Given the description of an element on the screen output the (x, y) to click on. 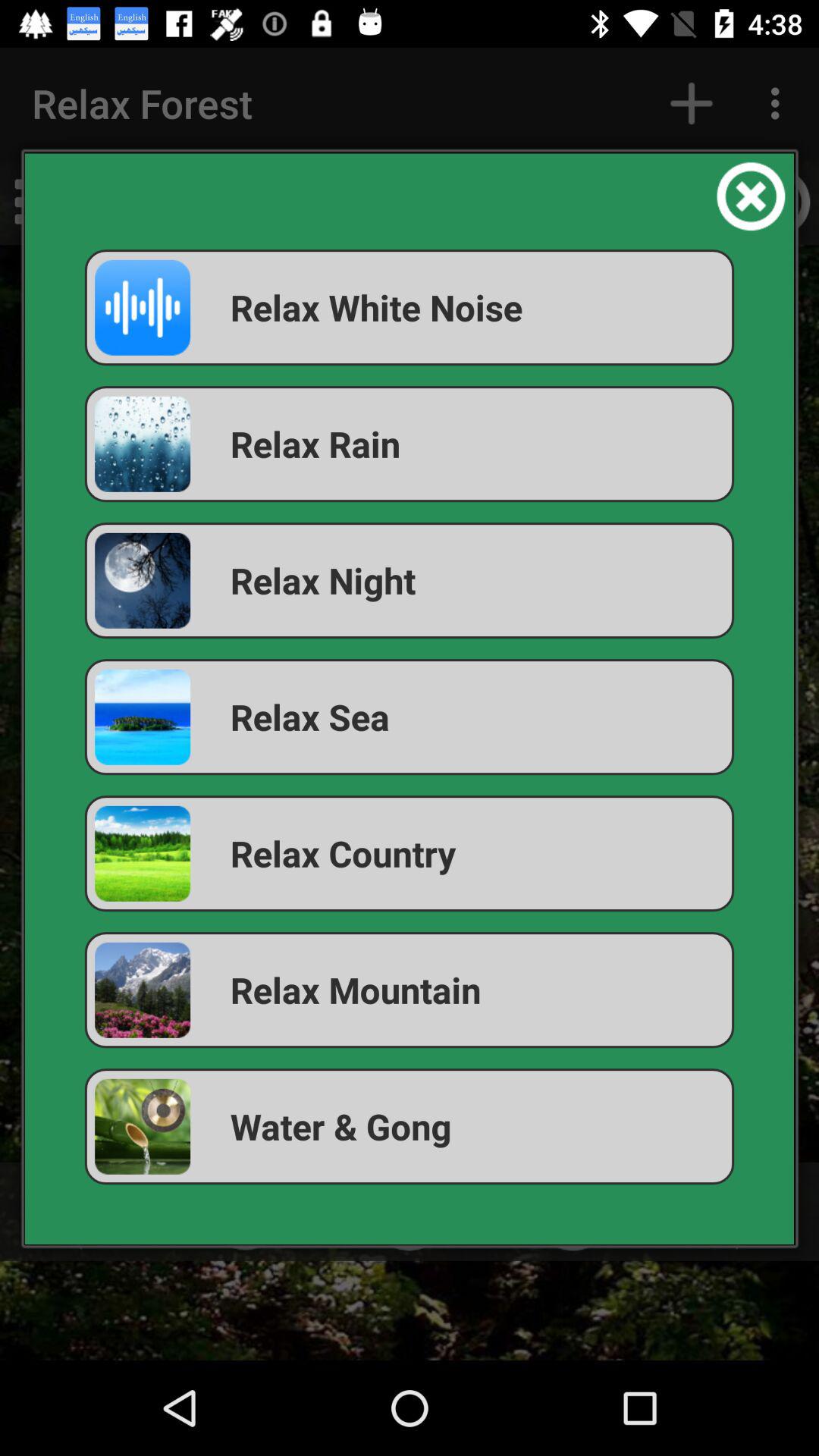
choose water & gong item (409, 1126)
